Given the description of an element on the screen output the (x, y) to click on. 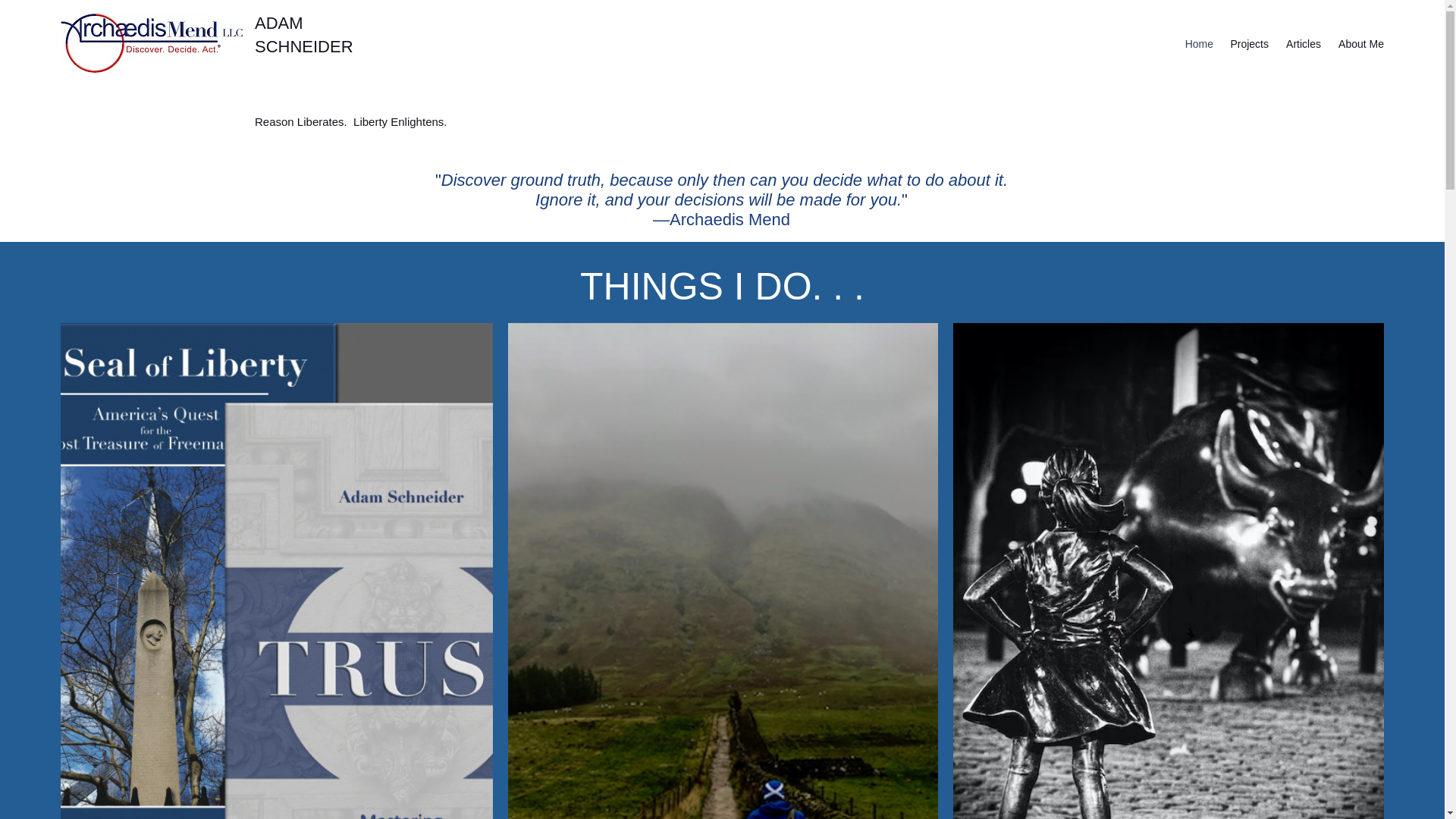
About Me (1359, 43)
Articles (1301, 43)
Home (1198, 43)
ADAM SCHNEIDER (303, 34)
Projects (1248, 43)
